Given the description of an element on the screen output the (x, y) to click on. 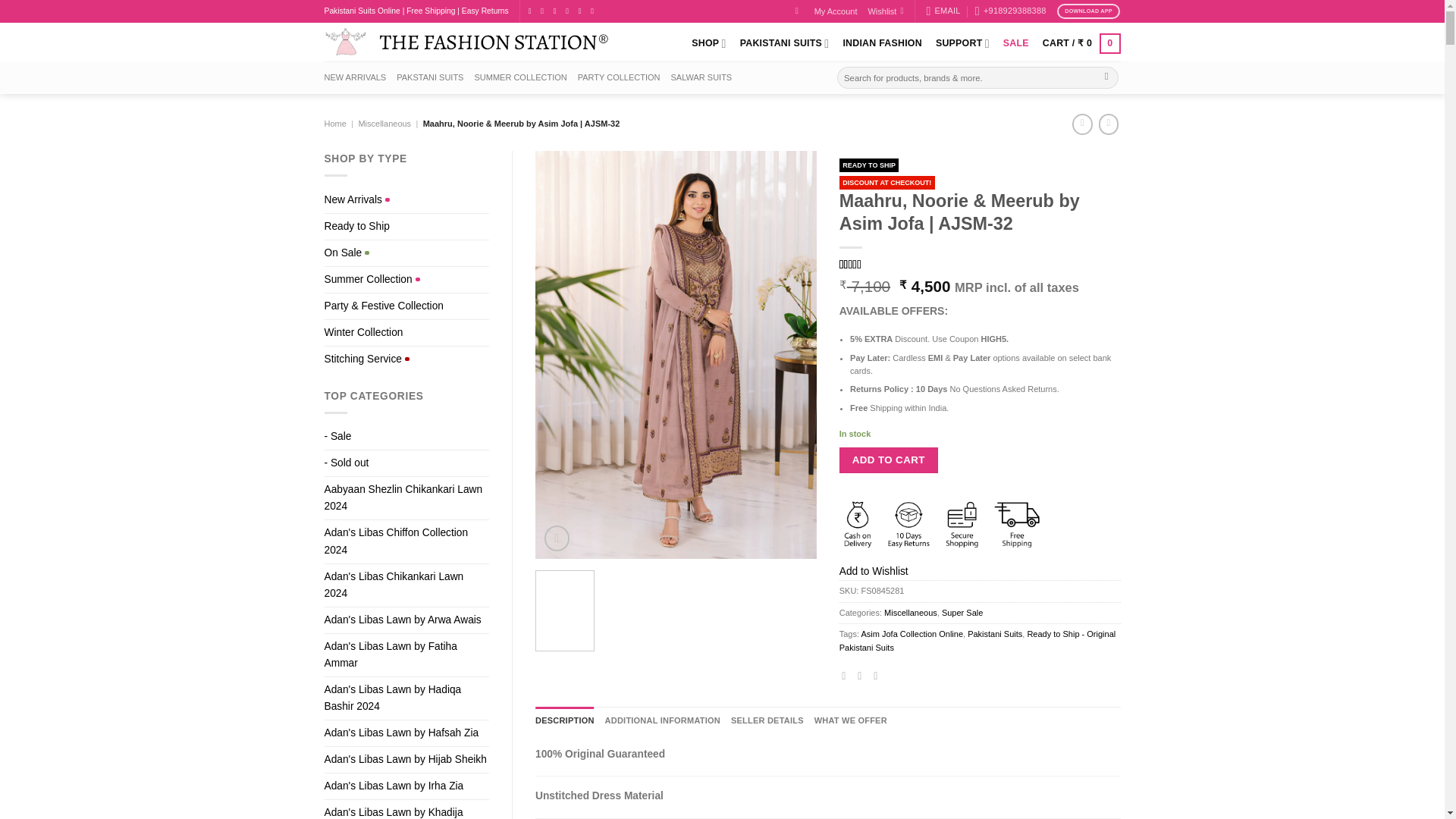
EMAIL (942, 11)
SHOP (708, 43)
The Fashion Station - Pakistani Suits (466, 41)
Wishlist (884, 11)
Call us (582, 10)
Cart (1081, 43)
My Account (835, 11)
Follow on Pinterest (594, 10)
Follow on Facebook (531, 10)
DOWNLOAD APP (1089, 11)
